Given the description of an element on the screen output the (x, y) to click on. 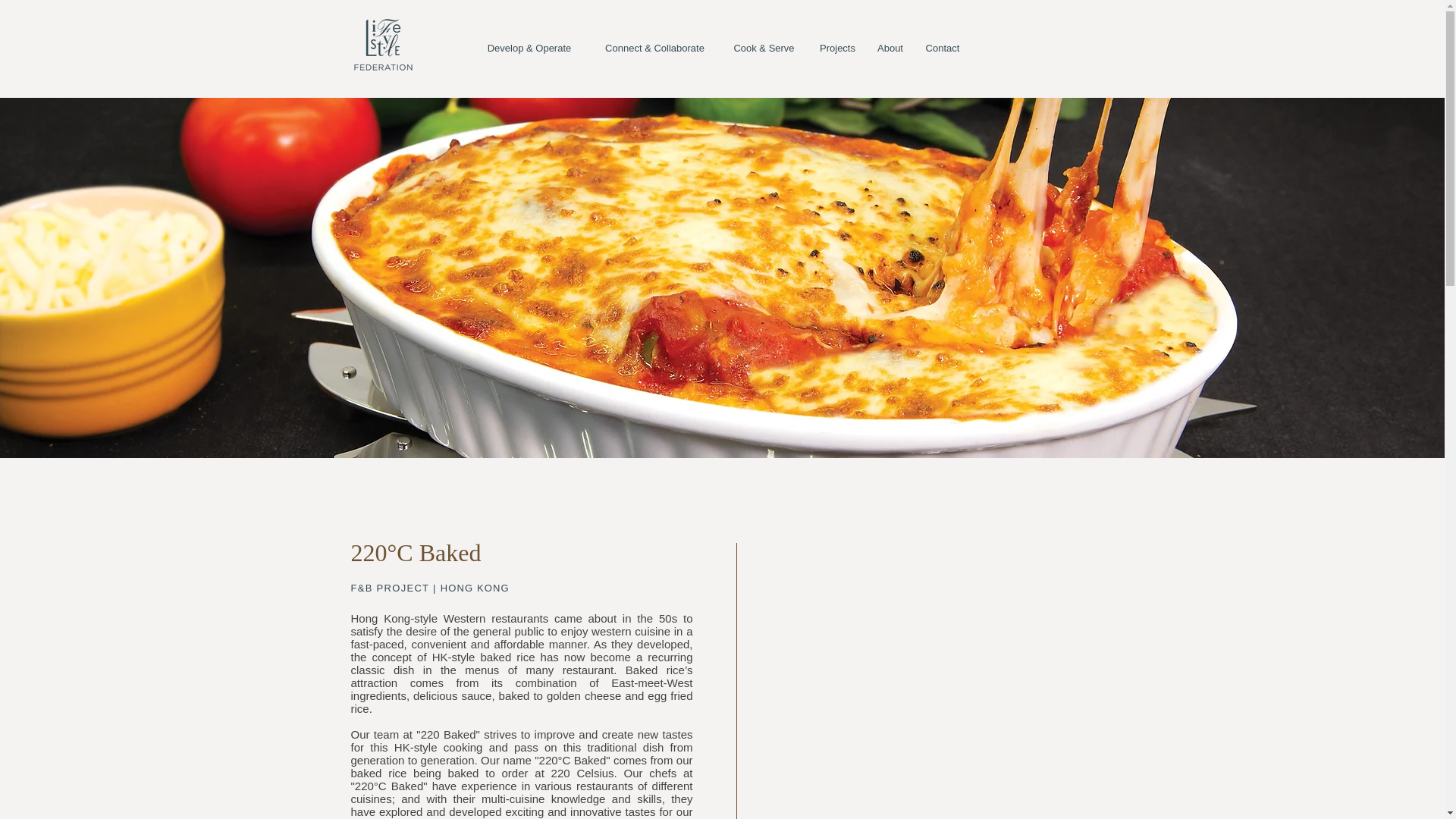
Contact (941, 48)
Projects (836, 48)
About (889, 48)
